Given the description of an element on the screen output the (x, y) to click on. 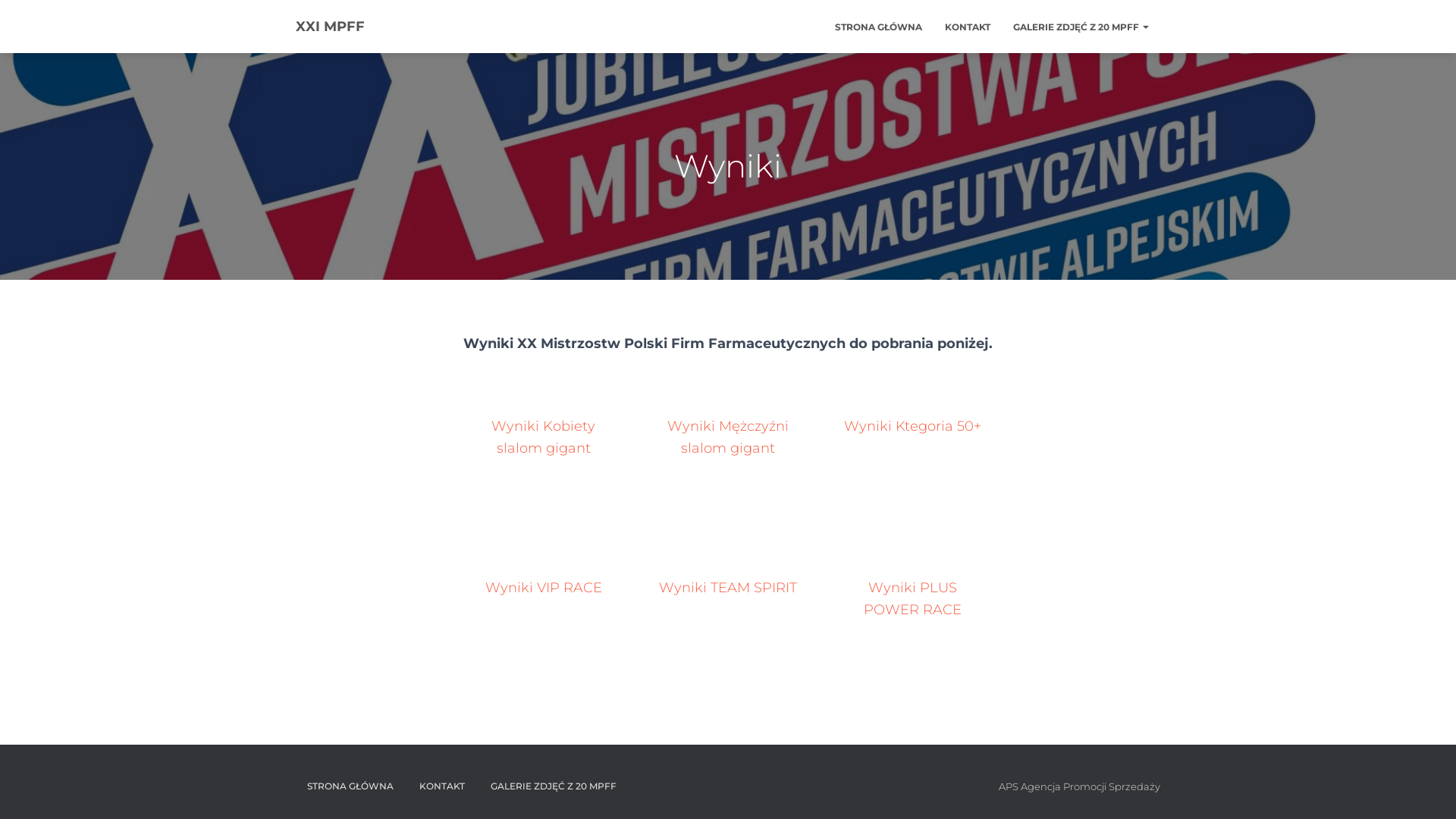
Wyniki VIP RACE Element type: text (543, 587)
KONTAKT Element type: text (441, 785)
Wyniki Ktegoria 50+ Element type: text (912, 425)
KONTAKT Element type: text (967, 25)
Wyniki TEAM SPIRIT Element type: text (727, 587)
XXI MPFF Element type: text (330, 26)
Wyniki PLUS POWER RACE Element type: text (912, 598)
Wyniki Kobiety slalom gigant Element type: text (543, 436)
